Given the description of an element on the screen output the (x, y) to click on. 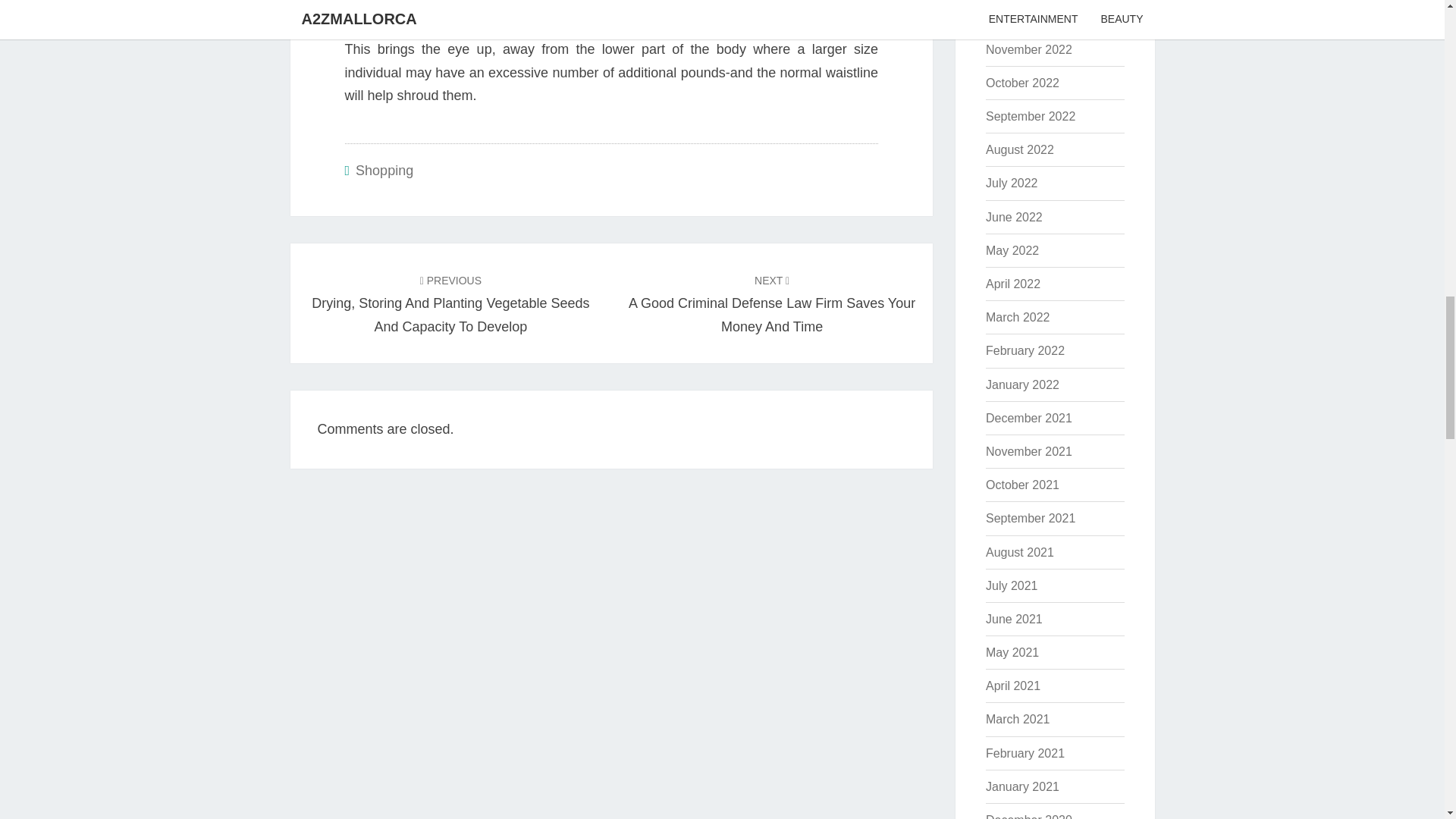
Shopping (384, 170)
July 2022 (1011, 182)
September 2022 (1030, 115)
May 2022 (1012, 250)
June 2022 (1013, 216)
October 2022 (1022, 82)
August 2022 (1019, 149)
December 2022 (1028, 15)
